Given the description of an element on the screen output the (x, y) to click on. 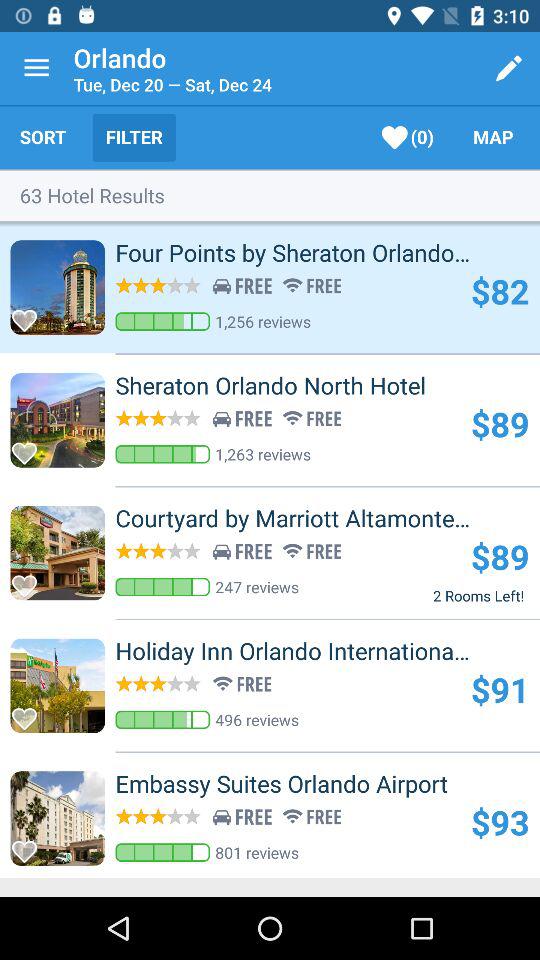
toggle favorite (30, 580)
